Given the description of an element on the screen output the (x, y) to click on. 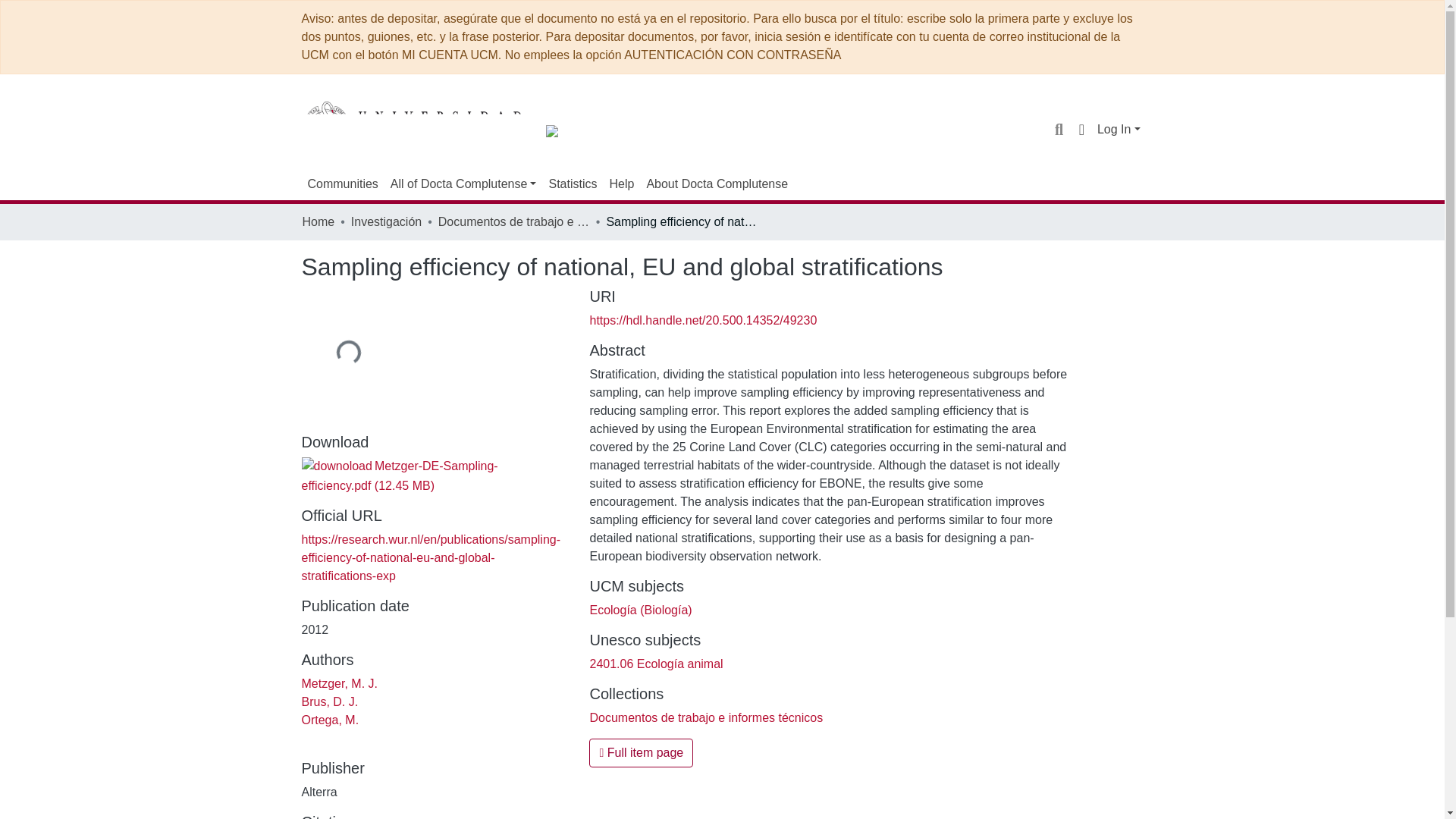
Help (621, 183)
Statistics (571, 183)
Home (317, 221)
Language switch (1081, 129)
Communities (342, 183)
Help (621, 183)
All of Docta Complutense (463, 183)
Metzger, M. J. (339, 683)
downoloade (336, 466)
About Docta Complutense (716, 183)
